Given the description of an element on the screen output the (x, y) to click on. 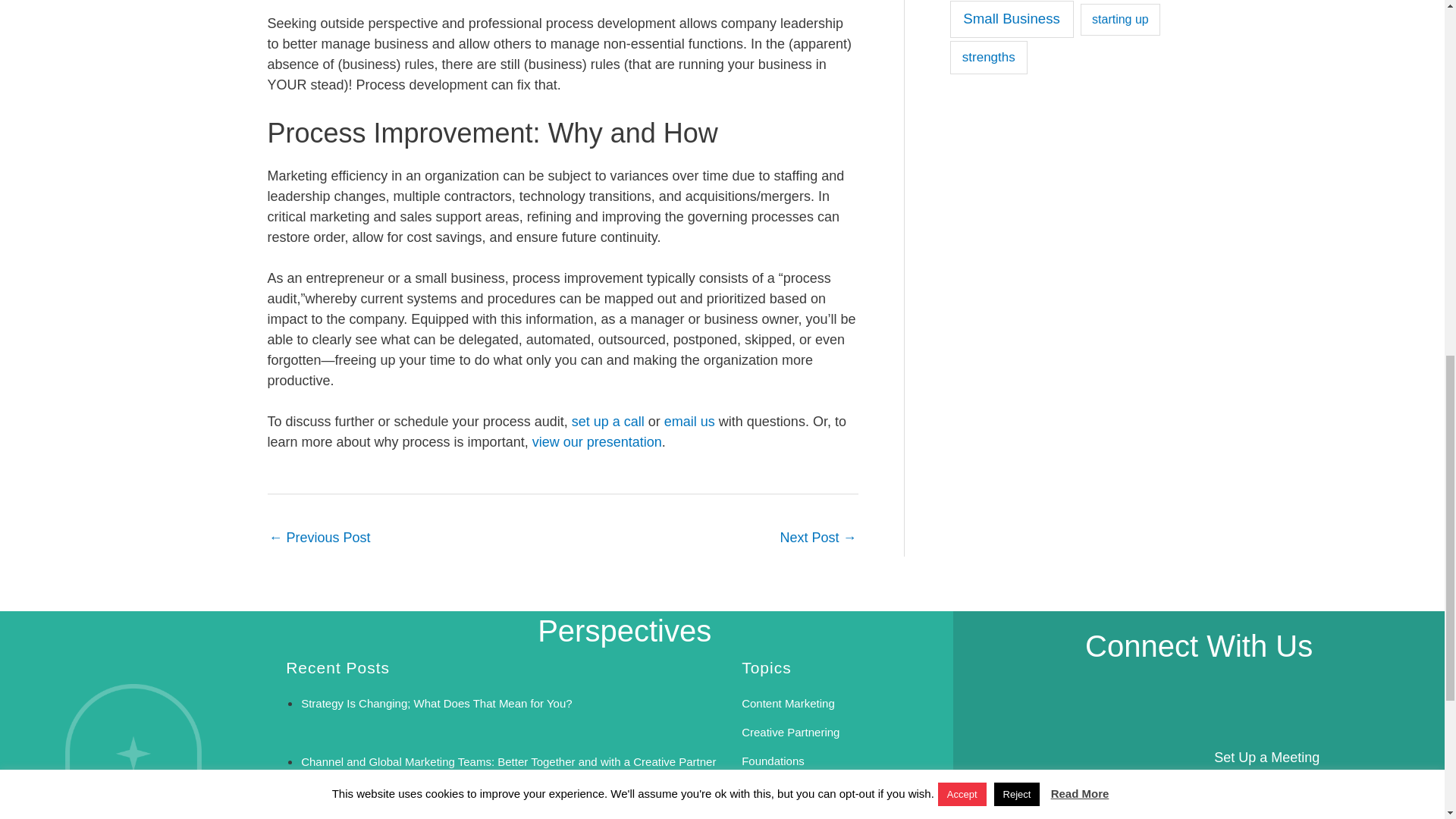
email us (691, 421)
Success Is an Inside Job (363, 816)
Strategy Is Changing; What Does That Mean for You? (436, 703)
Why Hire a Strategic Marketing Consultant? (817, 539)
Our Position on Collaborating with Agencies (318, 539)
view our presentation (597, 441)
set up a call (608, 421)
